Given the description of an element on the screen output the (x, y) to click on. 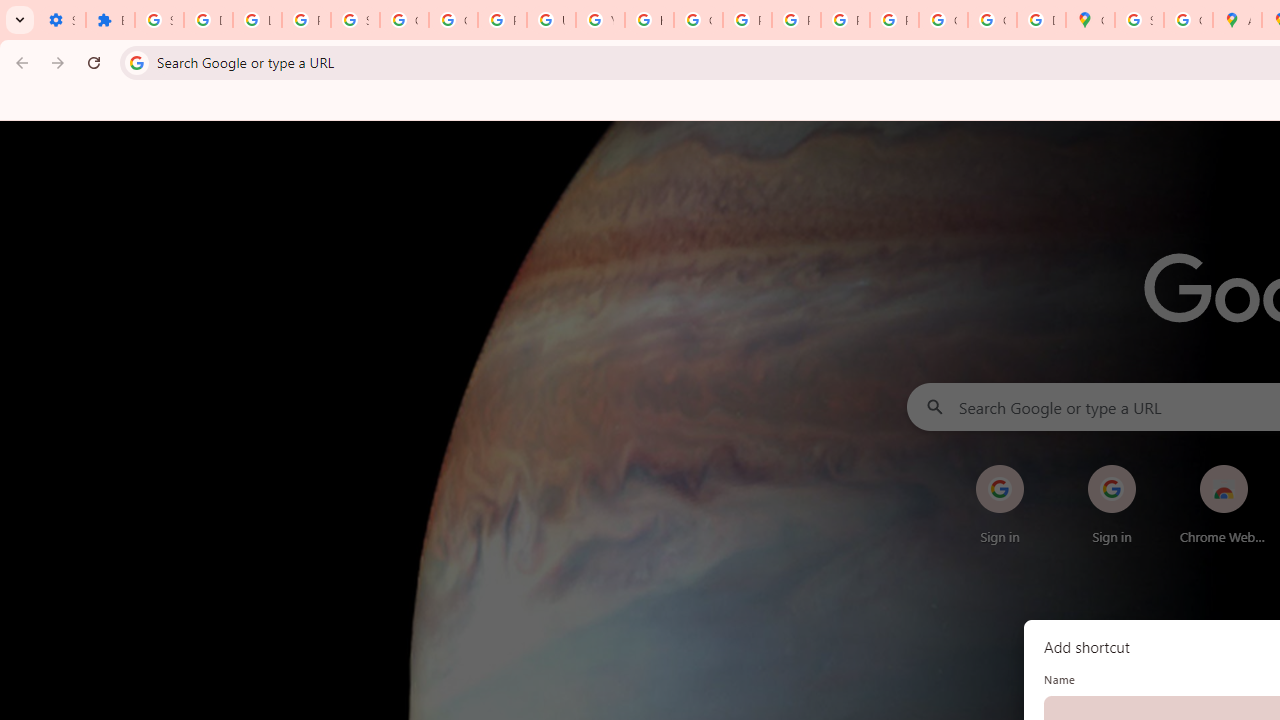
Google Maps (1090, 20)
Sign in - Google Accounts (1138, 20)
https://scholar.google.com/ (649, 20)
YouTube (600, 20)
